Given the description of an element on the screen output the (x, y) to click on. 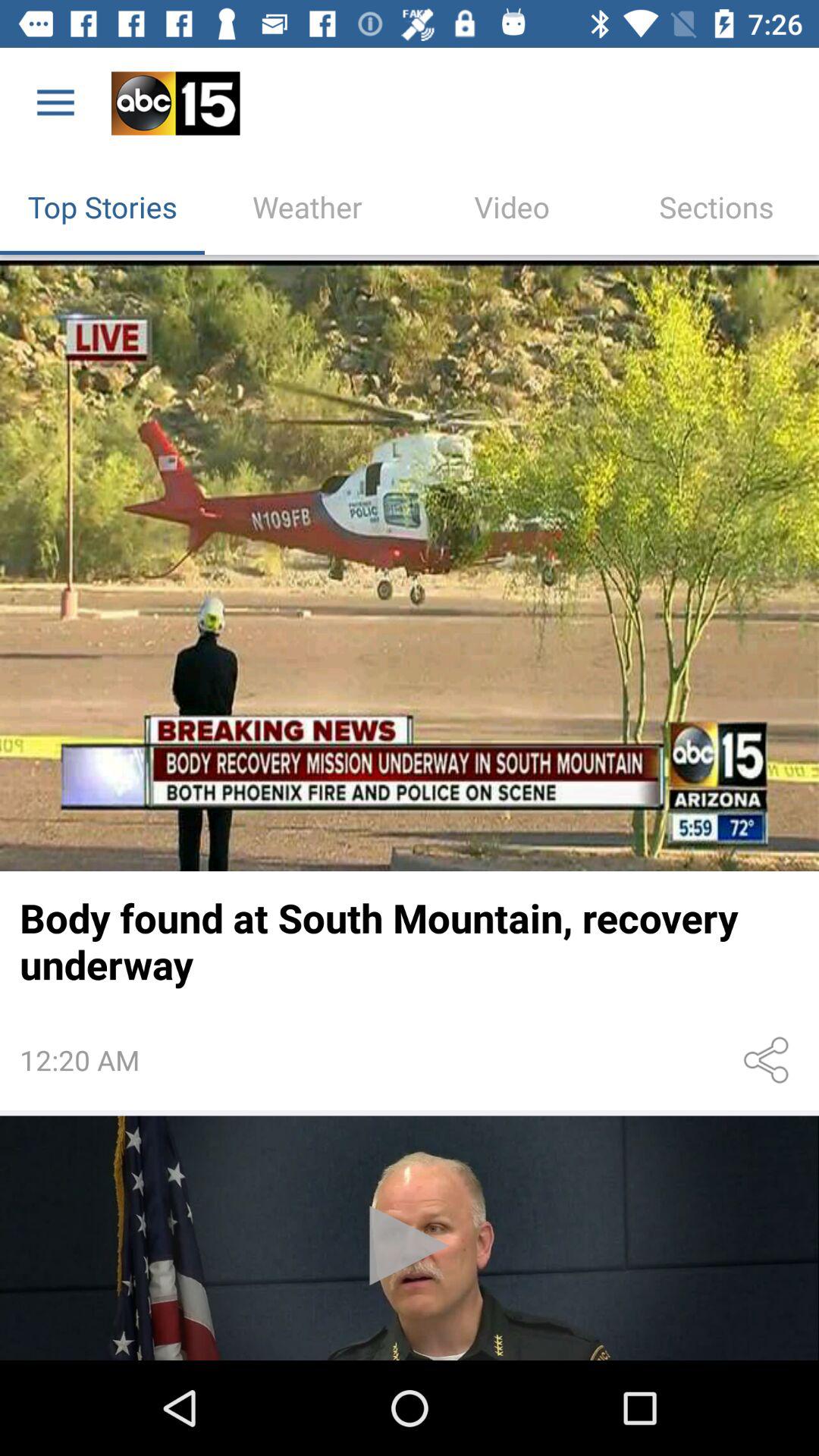
play video (409, 1237)
